Given the description of an element on the screen output the (x, y) to click on. 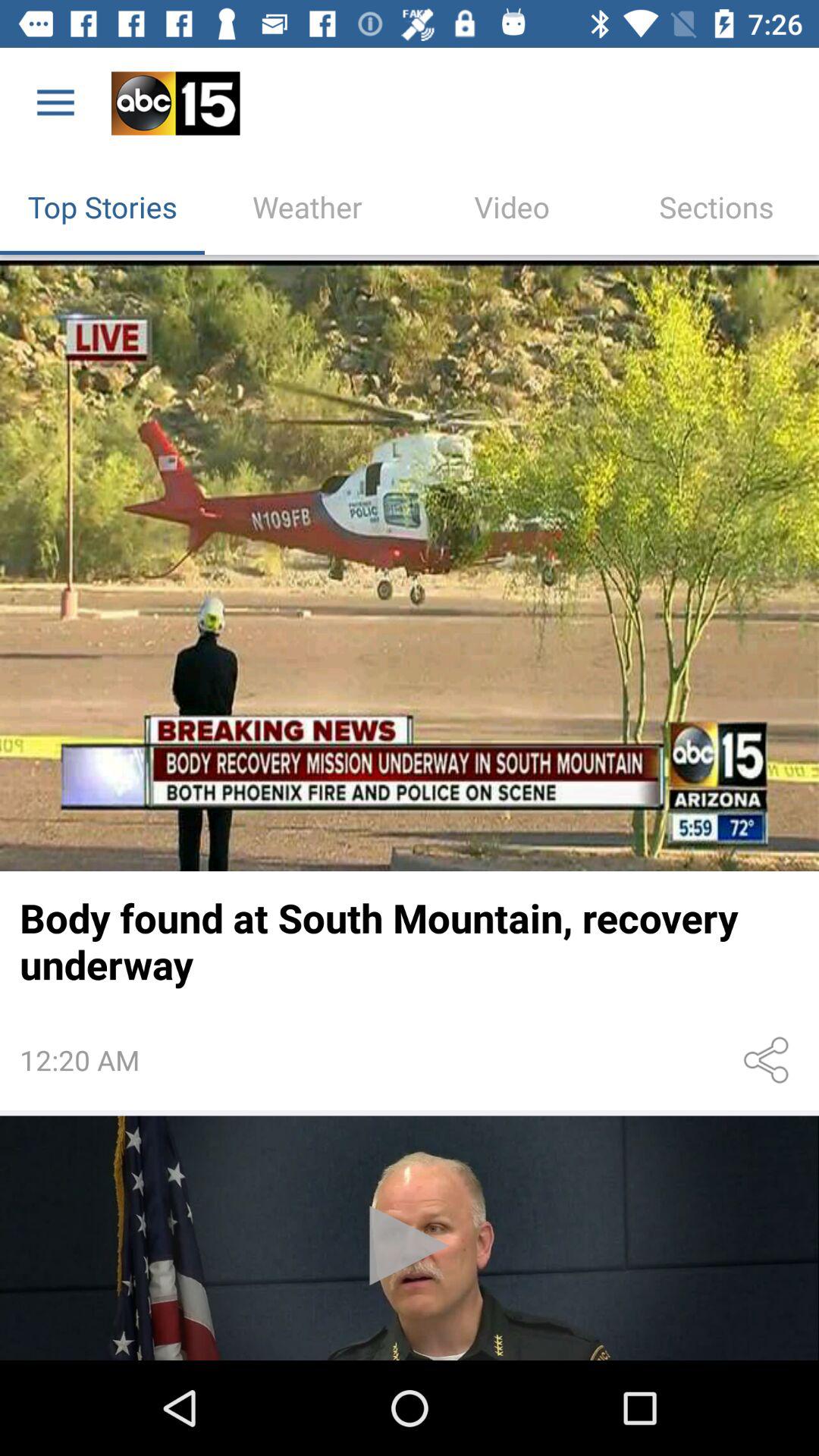
play video (409, 1237)
